Given the description of an element on the screen output the (x, y) to click on. 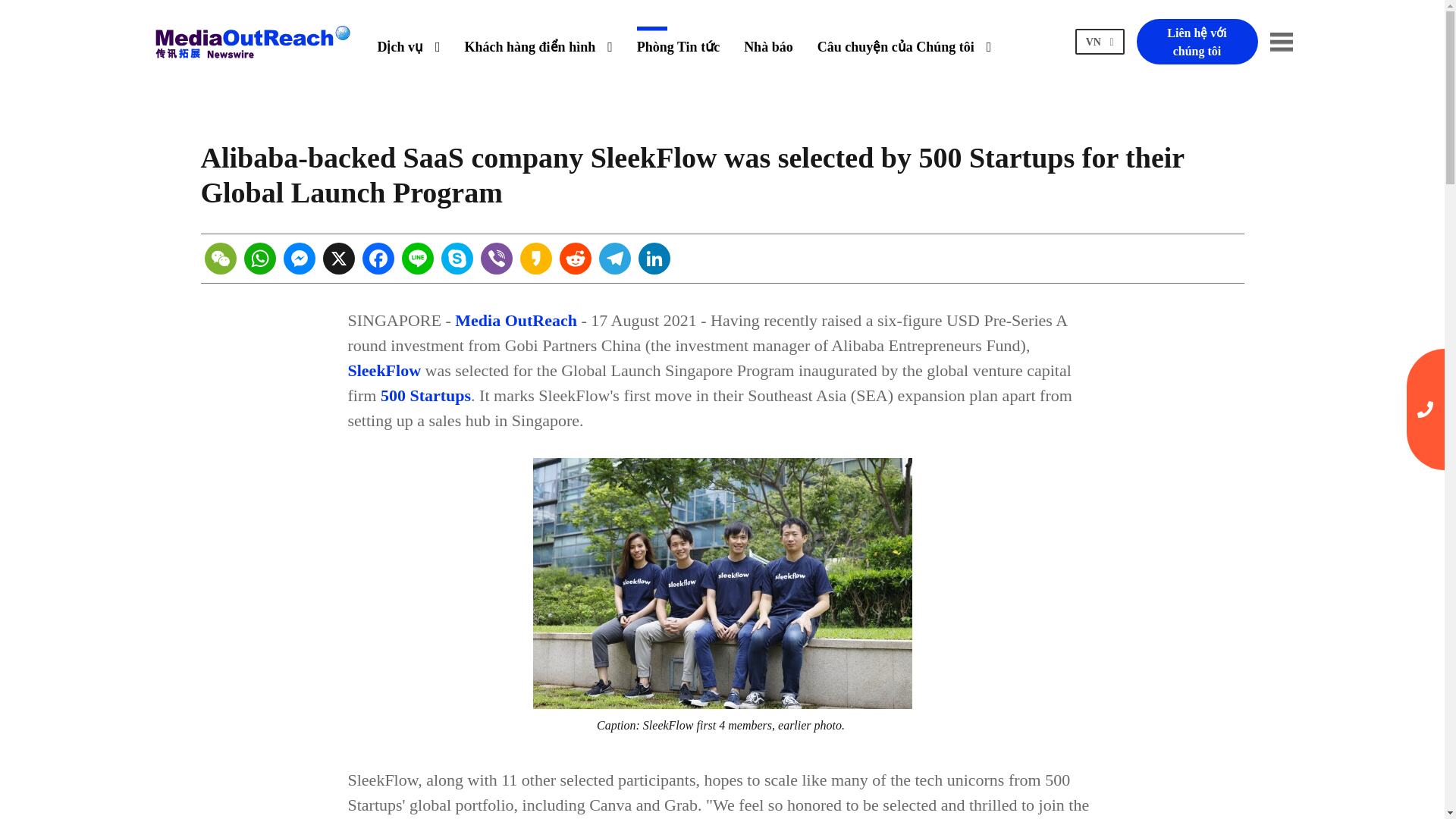
VN (1099, 41)
